Given the description of an element on the screen output the (x, y) to click on. 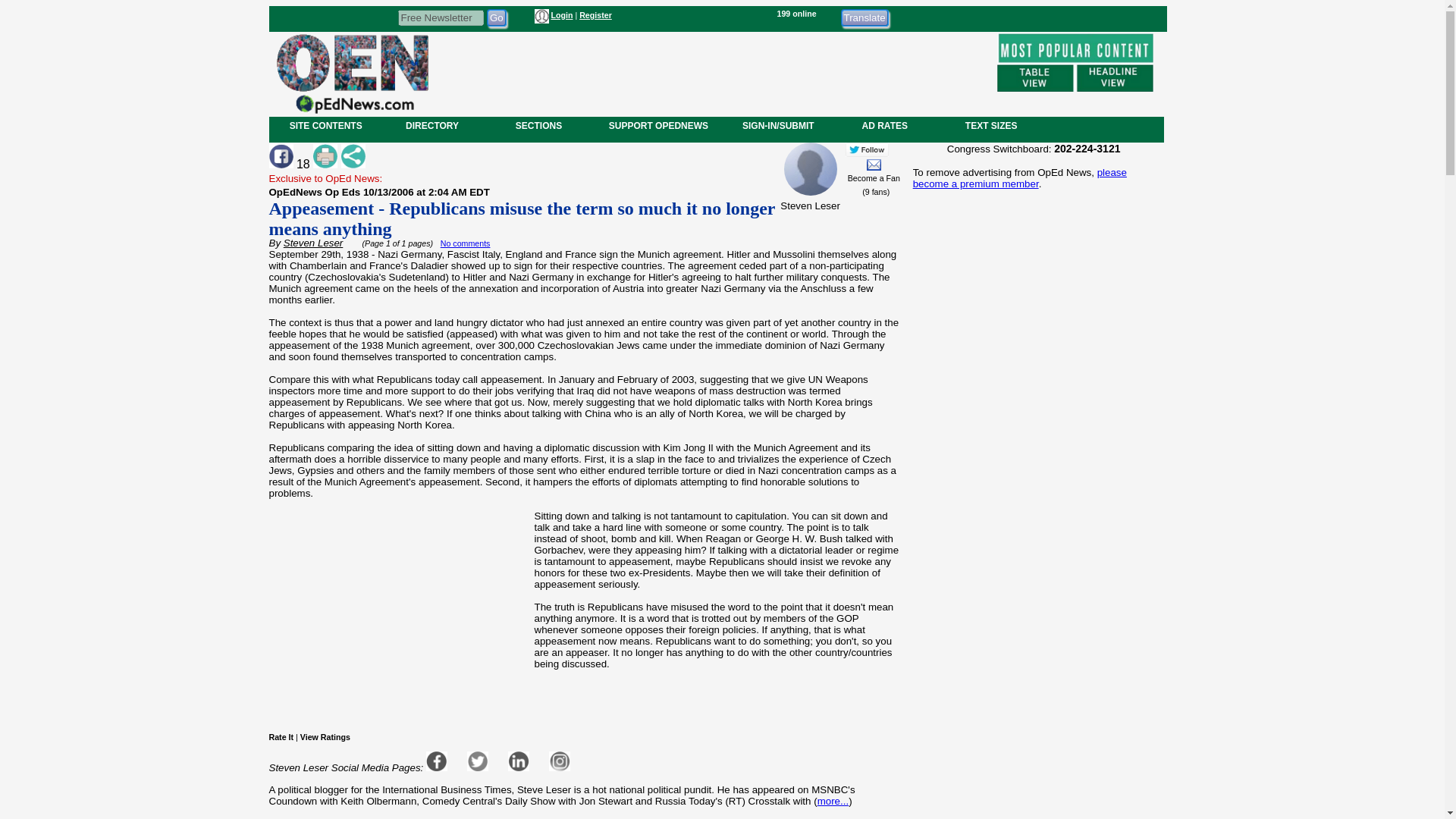
SUPPORT OPEDNEWS (658, 125)
Go (496, 17)
Printer Friendly Page (325, 156)
Instagram page url on login Profile not filled in (559, 761)
Advertisement (711, 71)
SITE CONTENTS (325, 125)
Free Newsletter (440, 17)
Share on Facebook (279, 156)
TEXT SIZES (990, 125)
Become a Fan (873, 177)
